Given the description of an element on the screen output the (x, y) to click on. 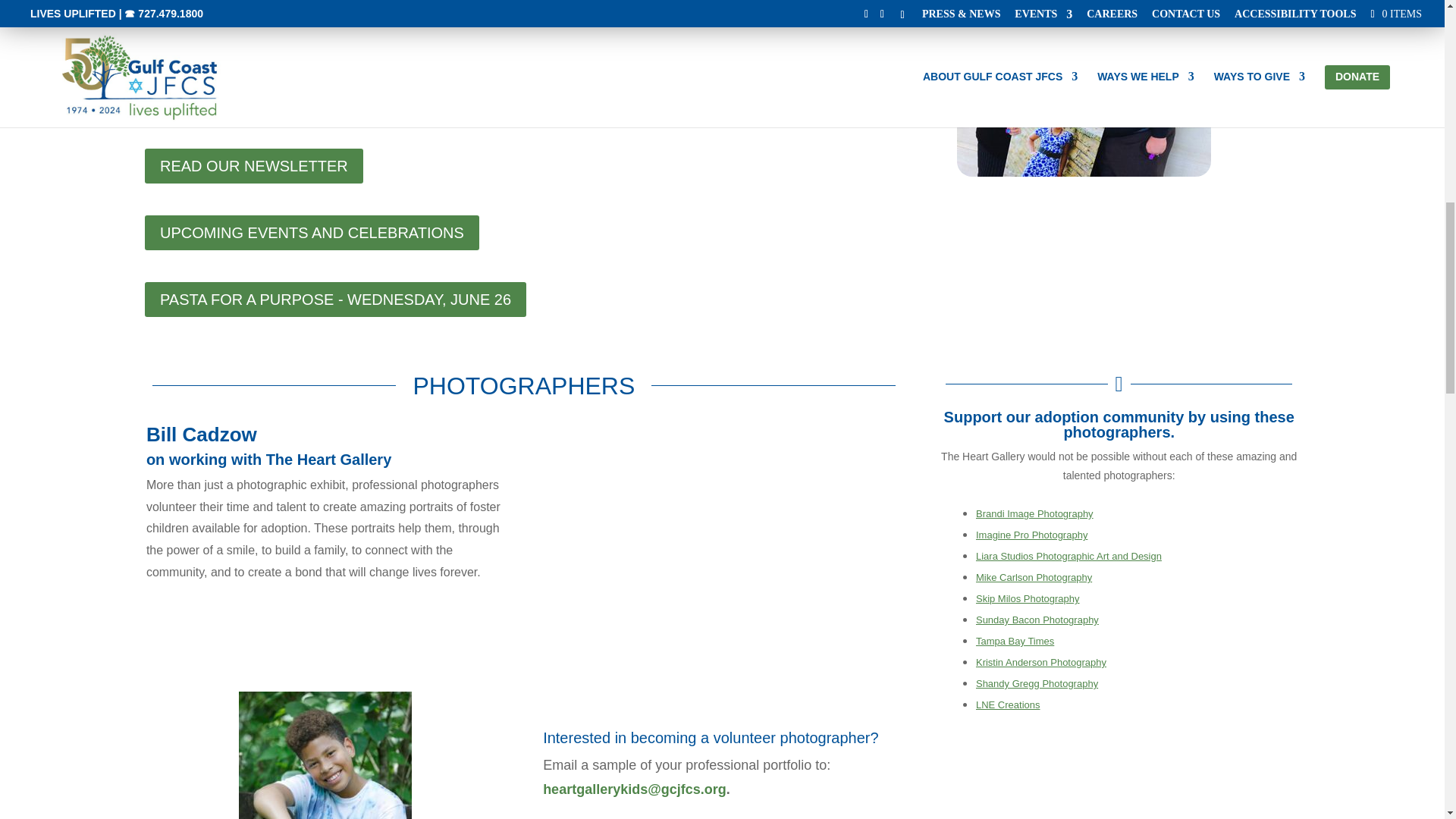
community (1083, 88)
Bill Cadzow on working with The Heart Gallery (722, 581)
ADOPTED: Edwin (325, 755)
